Given the description of an element on the screen output the (x, y) to click on. 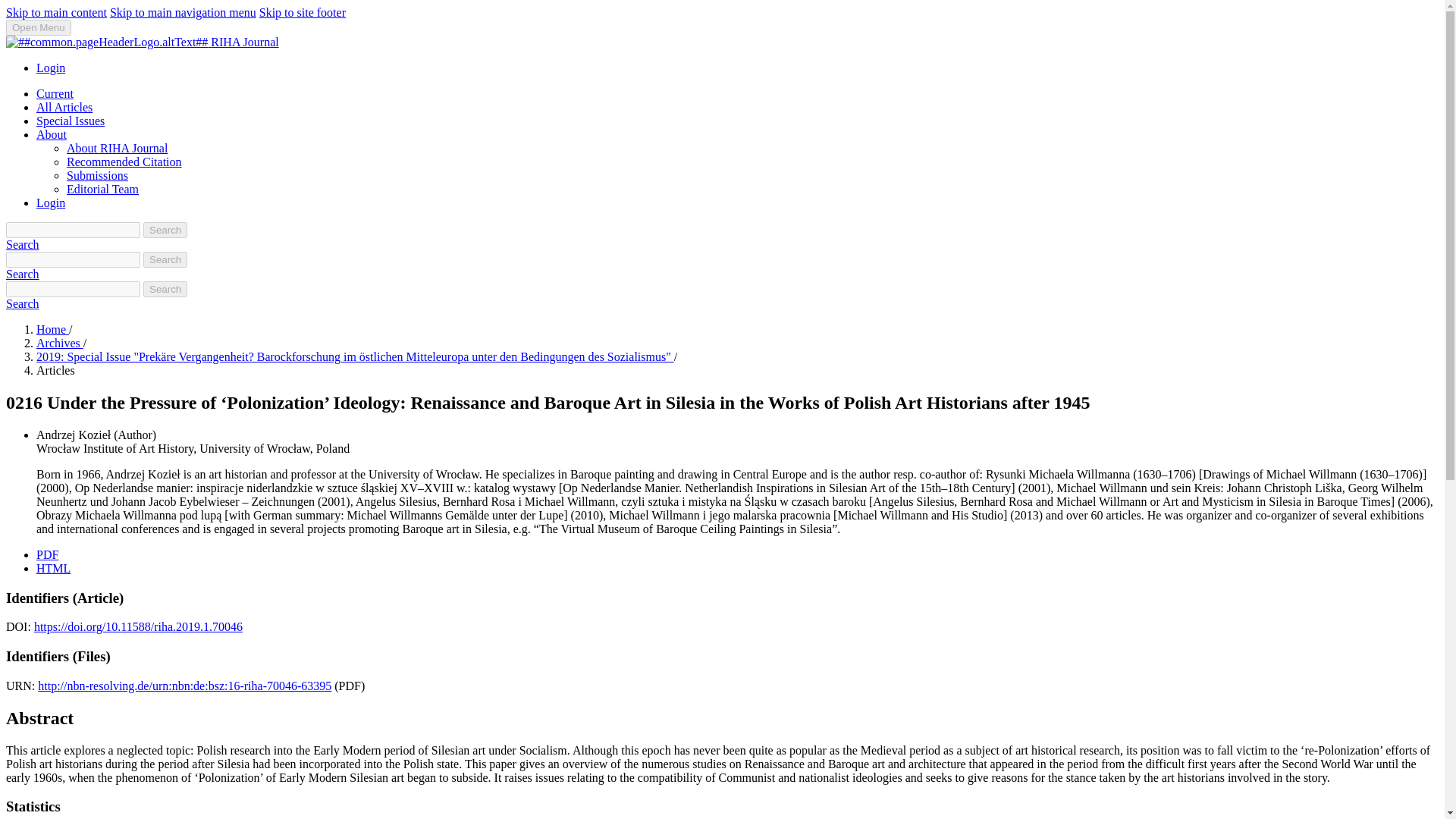
Editorial Team (102, 188)
Search (164, 289)
Special Issues (70, 120)
Home (52, 328)
Login (50, 67)
Search (22, 303)
All Articles (64, 106)
HTML (52, 567)
Archives (59, 342)
Search (164, 229)
